Given the description of an element on the screen output the (x, y) to click on. 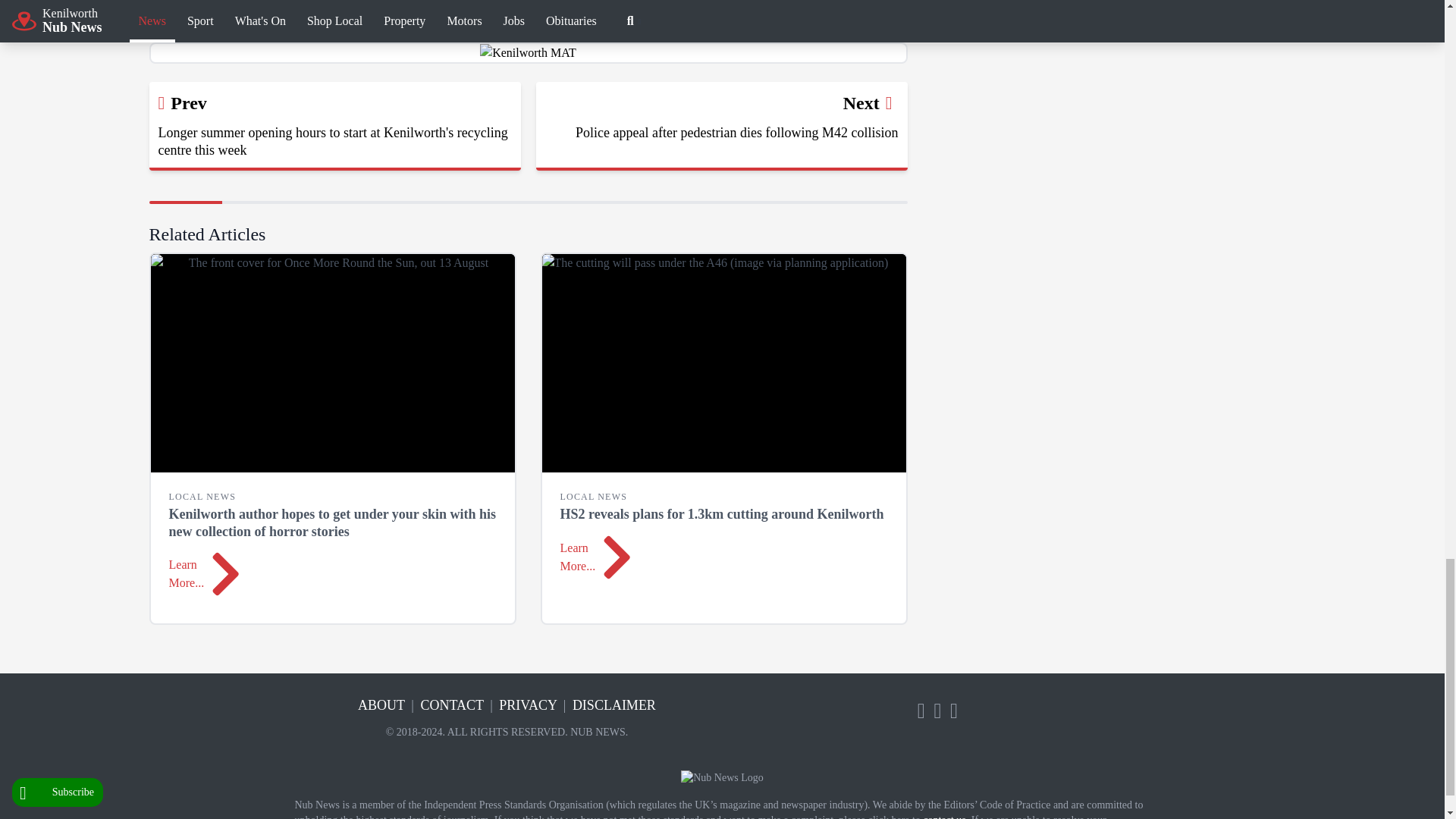
The front cover for Once More Round the Sun, out 13 August (331, 362)
Kenilworth MAT (528, 53)
